Given the description of an element on the screen output the (x, y) to click on. 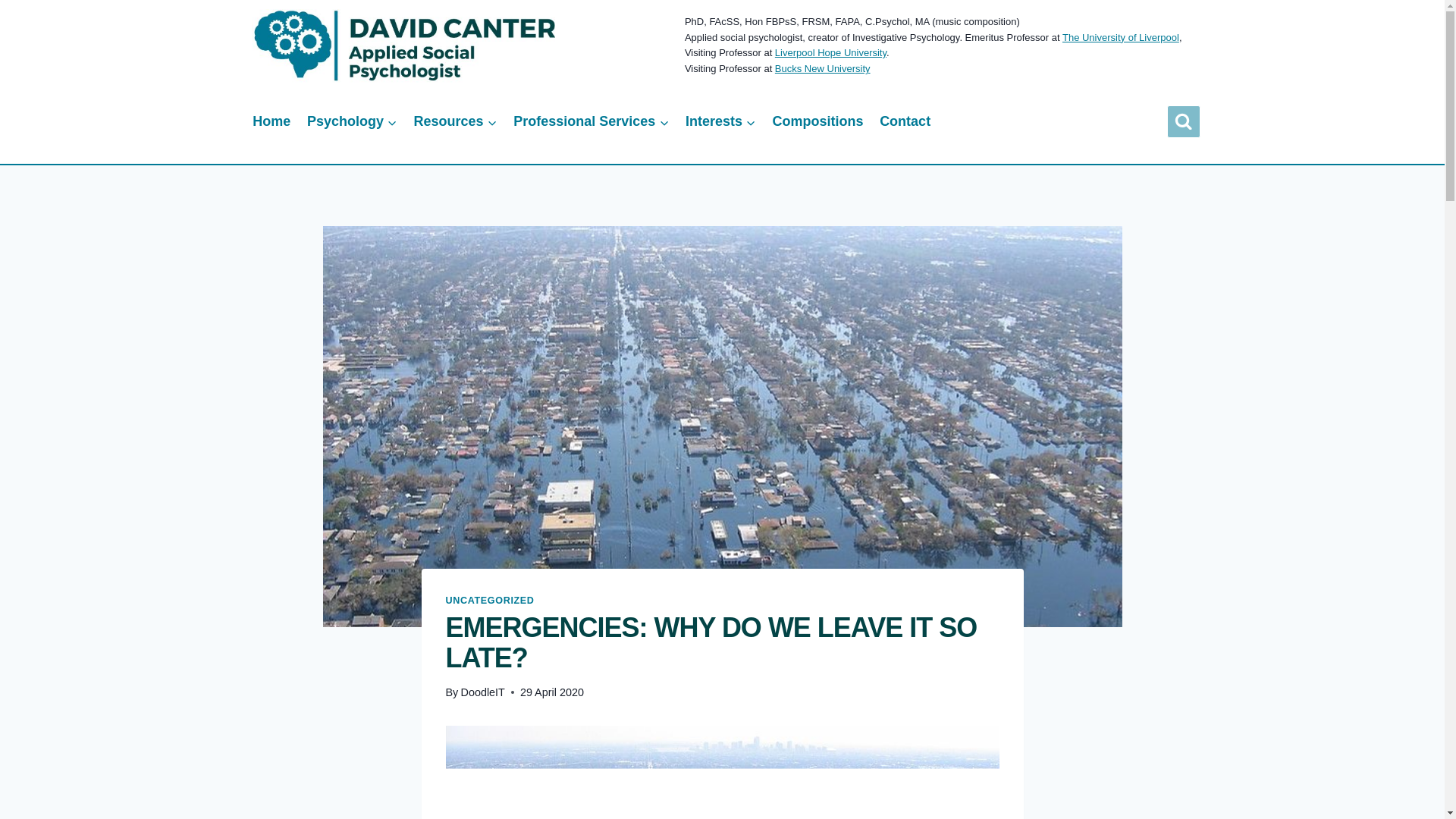
Professional Services (591, 121)
Liverpool Hope University (830, 52)
The University of Liverpool (1120, 37)
Interests (720, 121)
Psychology (352, 121)
Resources (455, 121)
Home (271, 121)
Bucks New University (822, 68)
